Given the description of an element on the screen output the (x, y) to click on. 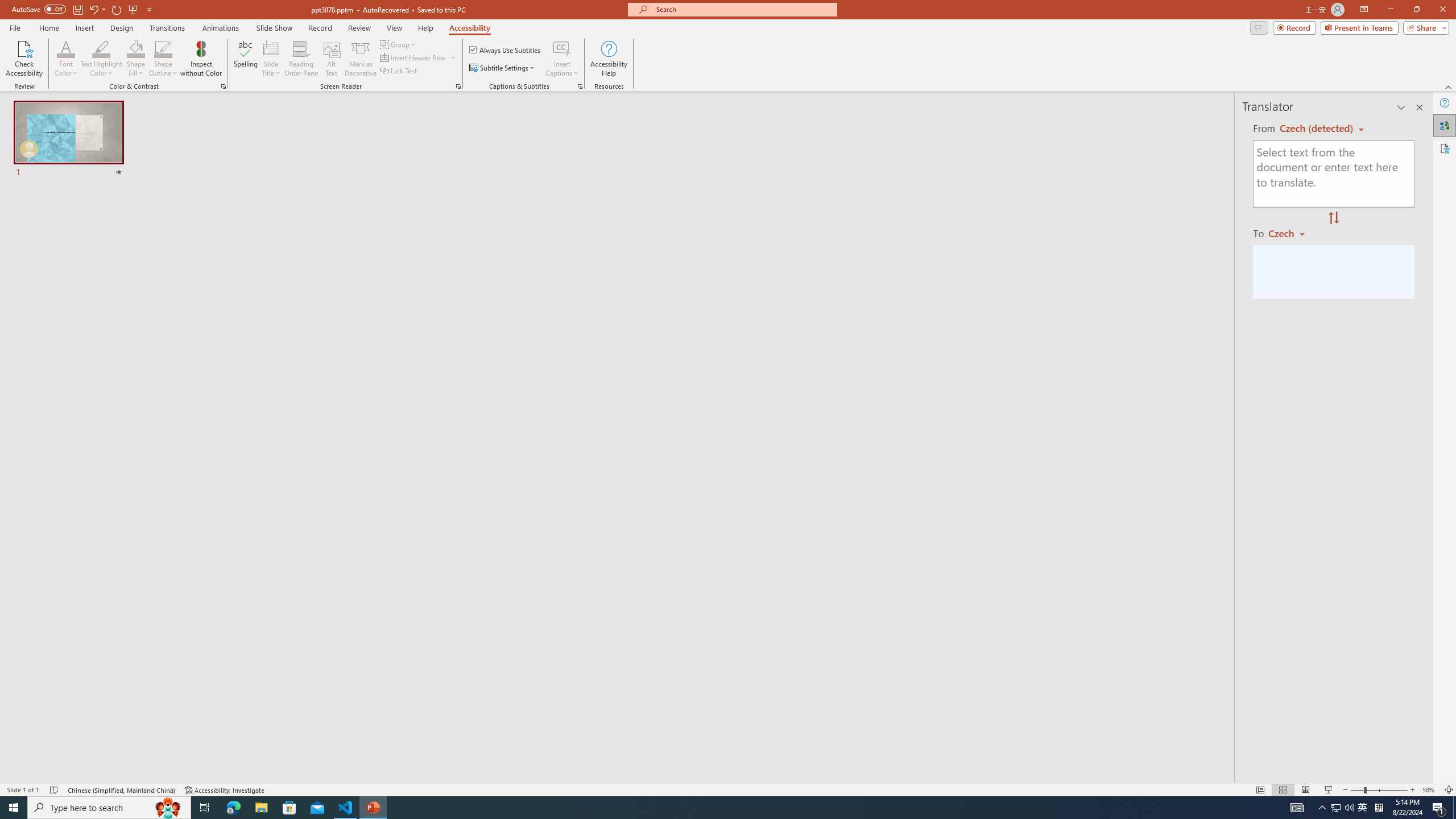
Screen Reader (458, 85)
Insert Header Row (413, 56)
